Given the description of an element on the screen output the (x, y) to click on. 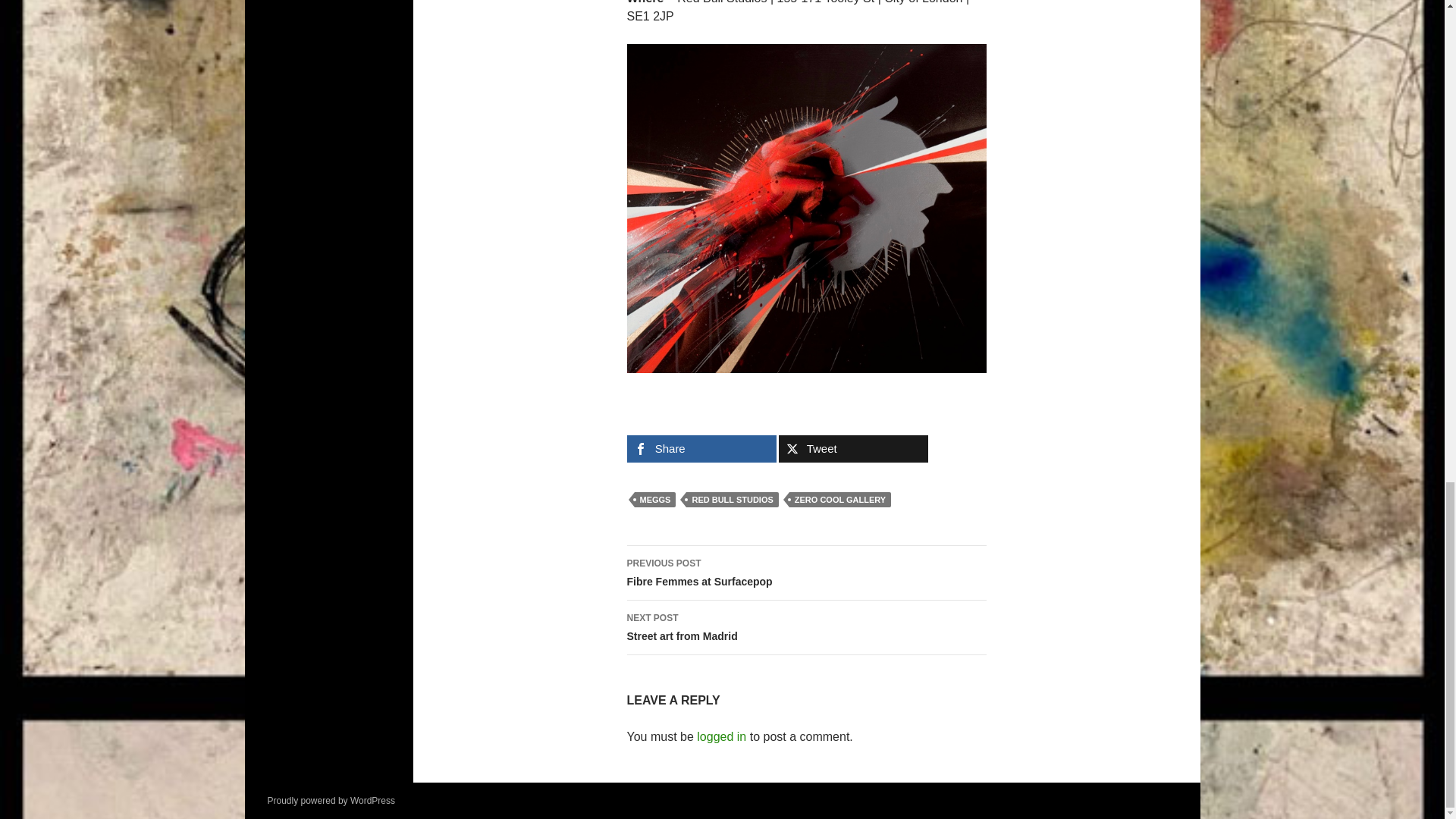
ZERO COOL GALLERY (840, 499)
Tweet (852, 448)
RED BULL STUDIOS (805, 573)
meggs (731, 499)
MEGGS (805, 208)
logged in (805, 627)
Proudly powered by WordPress (654, 499)
Share (721, 736)
